Given the description of an element on the screen output the (x, y) to click on. 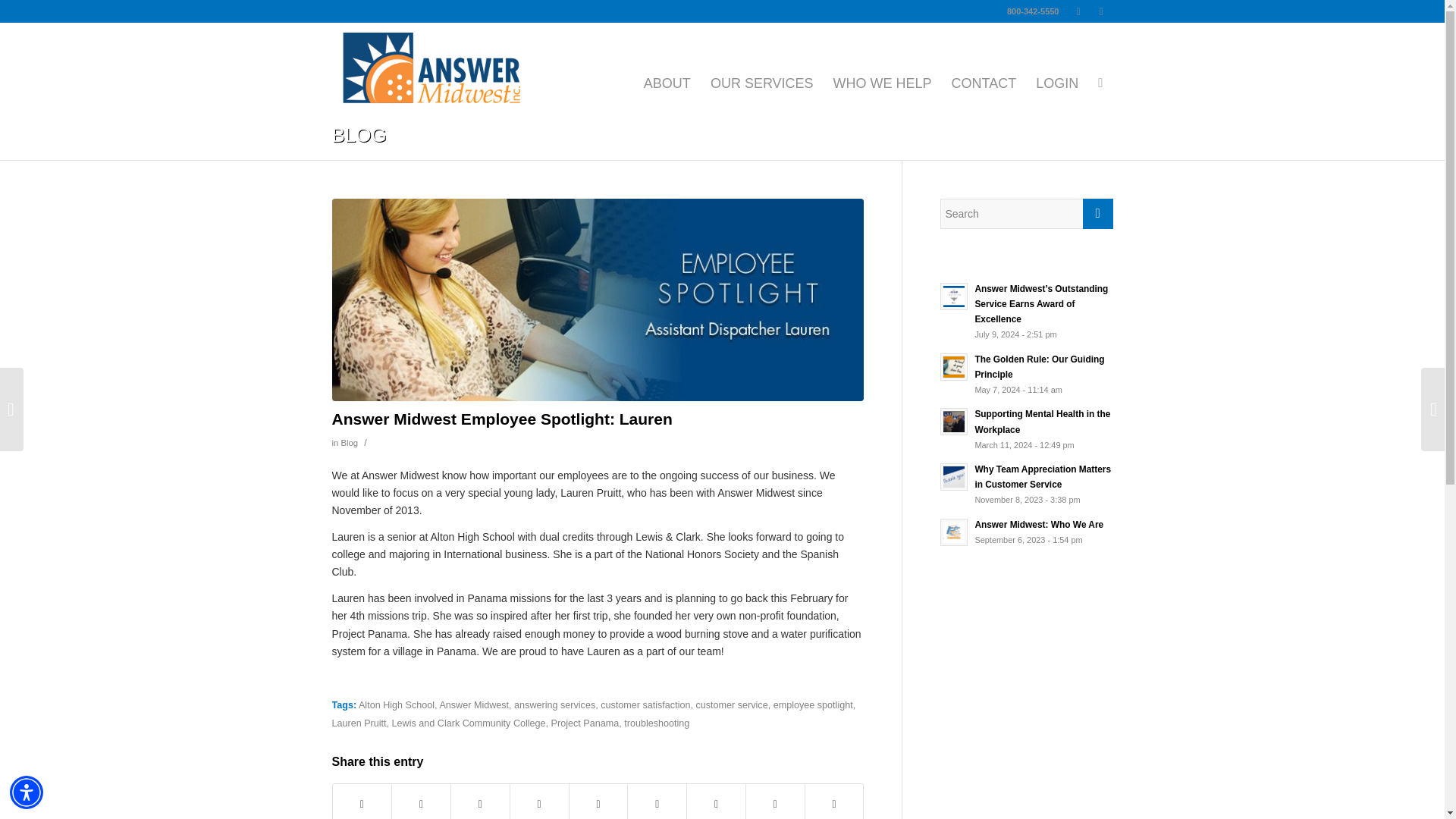
Blog (349, 442)
Lewis and Clark Community College (468, 723)
Facebook (1101, 11)
Home (861, 136)
customer service (731, 705)
troubleshooting (656, 723)
BLOG (896, 136)
answering services (554, 705)
Answer Midwest (473, 705)
BLOG (896, 136)
Alton High School (395, 705)
Twitter (1078, 11)
CONTACT (984, 83)
Blog (925, 136)
Accessibility Menu (26, 792)
